Given the description of an element on the screen output the (x, y) to click on. 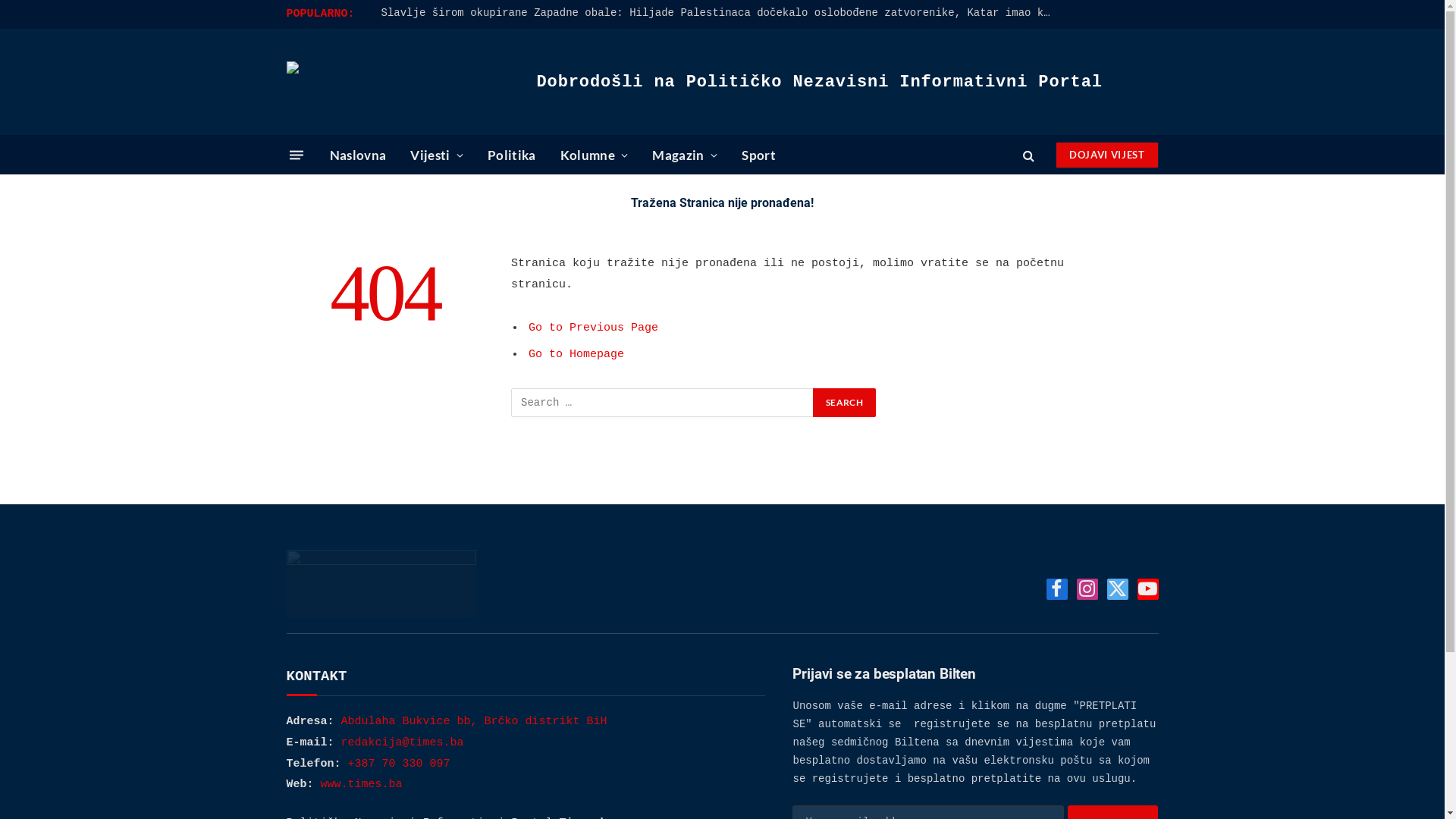
redakcija@times.ba Element type: text (402, 742)
Facebook Element type: text (1056, 588)
+387 70 330 097 Element type: text (399, 763)
YouTube Element type: text (1147, 588)
Naslovna Element type: text (357, 154)
Search Element type: hover (1028, 155)
Go to Previous Page Element type: text (593, 327)
Kolumne Element type: text (594, 154)
Politika Element type: text (511, 154)
www.times.ba Element type: text (361, 784)
Search Element type: text (843, 402)
Times.ba Element type: hover (400, 81)
X (Twitter) Element type: text (1117, 588)
Go to Homepage Element type: text (576, 354)
Magazin Element type: text (684, 154)
Vijesti Element type: text (436, 154)
Sport Element type: text (758, 154)
DOJAVI VIJEST Element type: text (1106, 154)
Instagram Element type: text (1087, 588)
